Given the description of an element on the screen output the (x, y) to click on. 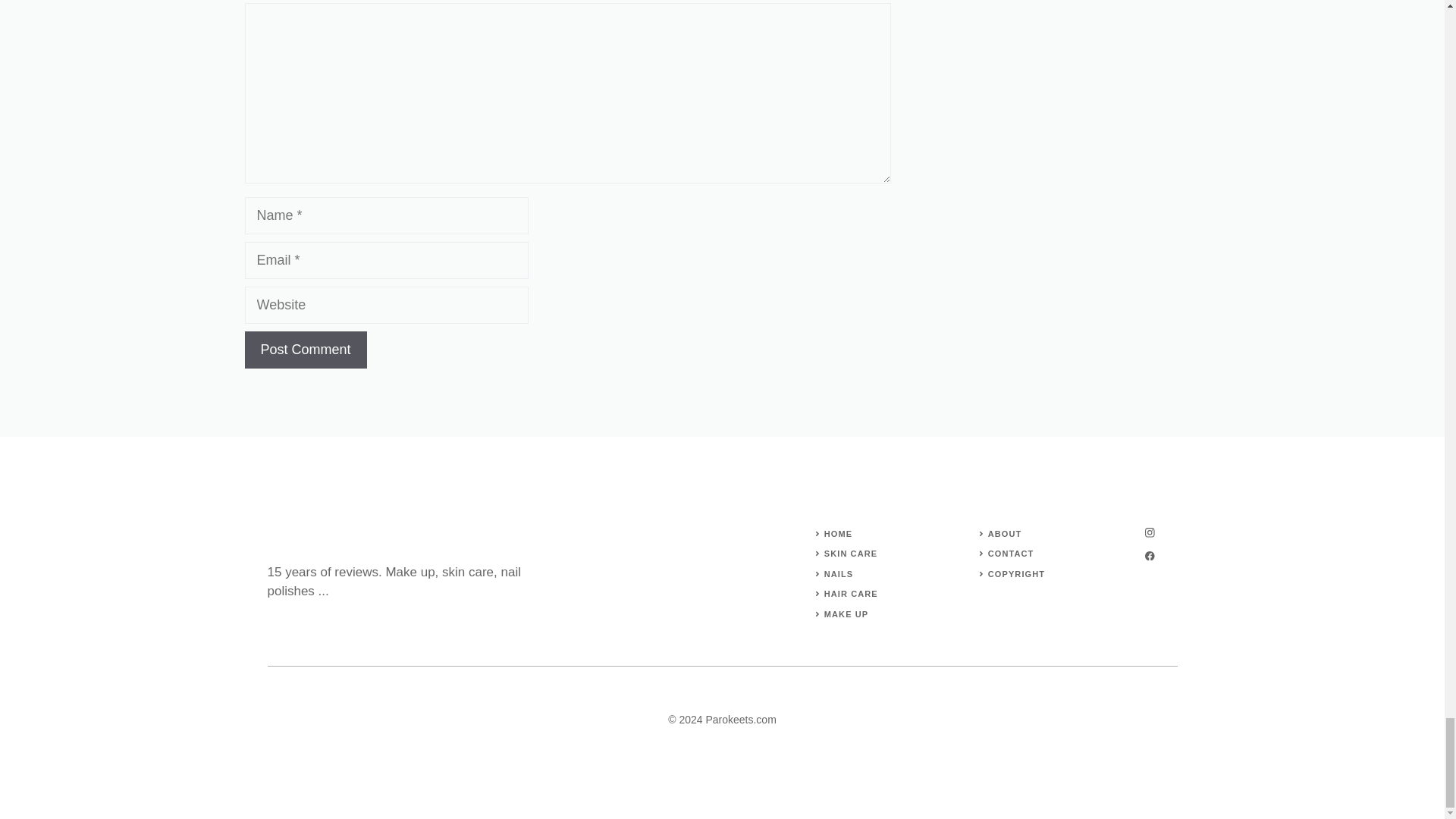
Post Comment (305, 349)
cropped-Parokeets-logo-2015-90 (304, 539)
